Given the description of an element on the screen output the (x, y) to click on. 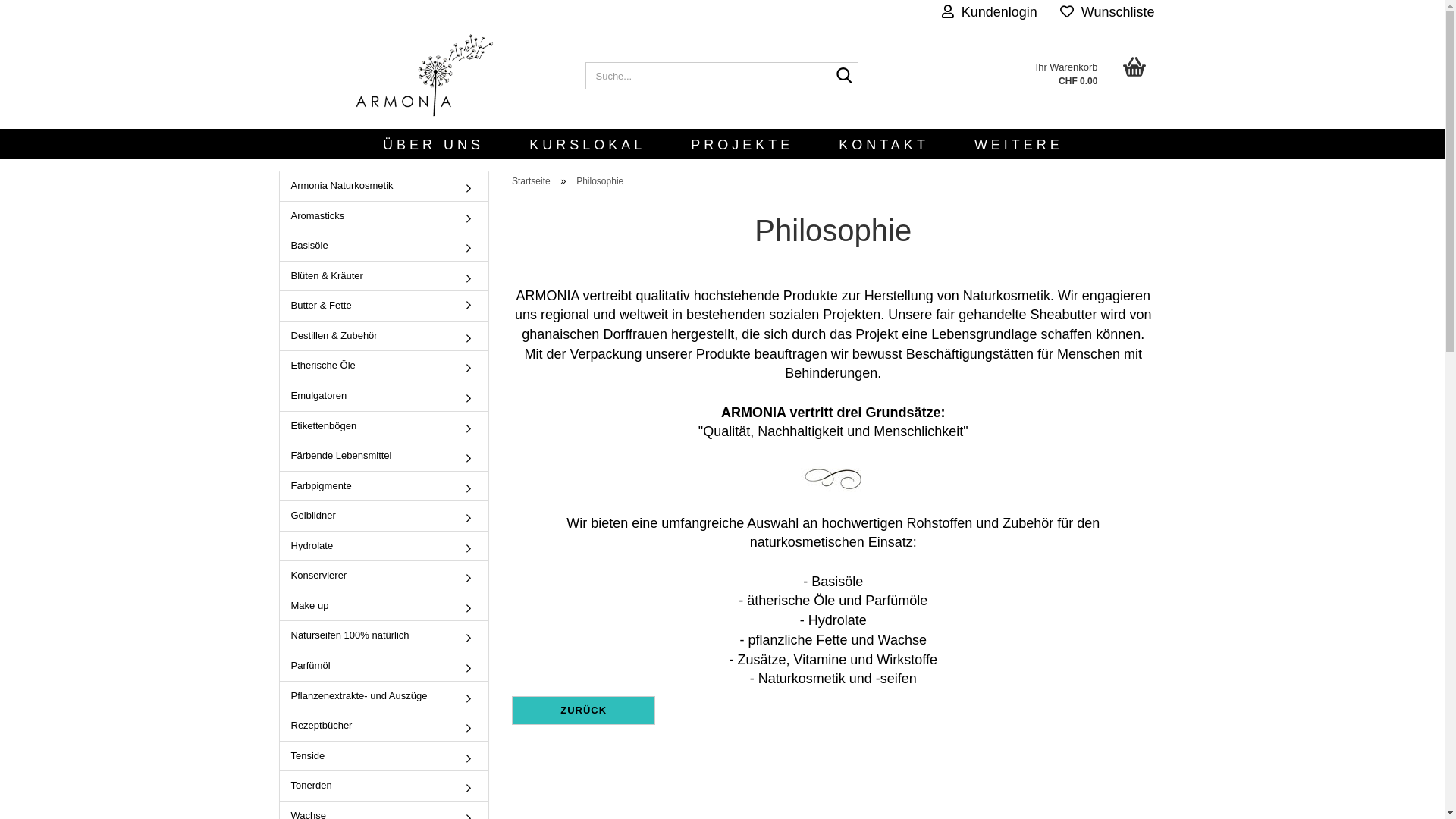
KONTAKT Element type: text (883, 143)
Tenside Element type: text (383, 756)
PROJEKTE Element type: text (741, 143)
WEITERE Element type: text (1018, 143)
Philosophie Element type: text (599, 180)
Hydrolate Element type: text (383, 546)
Gelbildner Element type: text (383, 515)
Menschlichkeit Element type: text (918, 431)
Ihr Warenkorb
CHF 0.00 Element type: text (1017, 68)
Farbpigmente Element type: text (383, 486)
Konservierer Element type: text (383, 575)
Startseite Element type: text (530, 180)
Butter & Fette Element type: text (383, 305)
Nachhaltigkeit Element type: text (800, 431)
Anmelden Element type: text (906, 185)
 Wunschliste Element type: text (1107, 11)
Emulgatoren Element type: text (383, 396)
Tonerden Element type: text (383, 785)
Aromasticks Element type: text (383, 216)
 Kundenlogin Element type: text (989, 11)
Make up Element type: text (383, 606)
KURSLOKAL Element type: text (587, 143)
Armonia GmbH Element type: hover (425, 75)
Armonia Naturkosmetik Element type: text (383, 185)
